Given the description of an element on the screen output the (x, y) to click on. 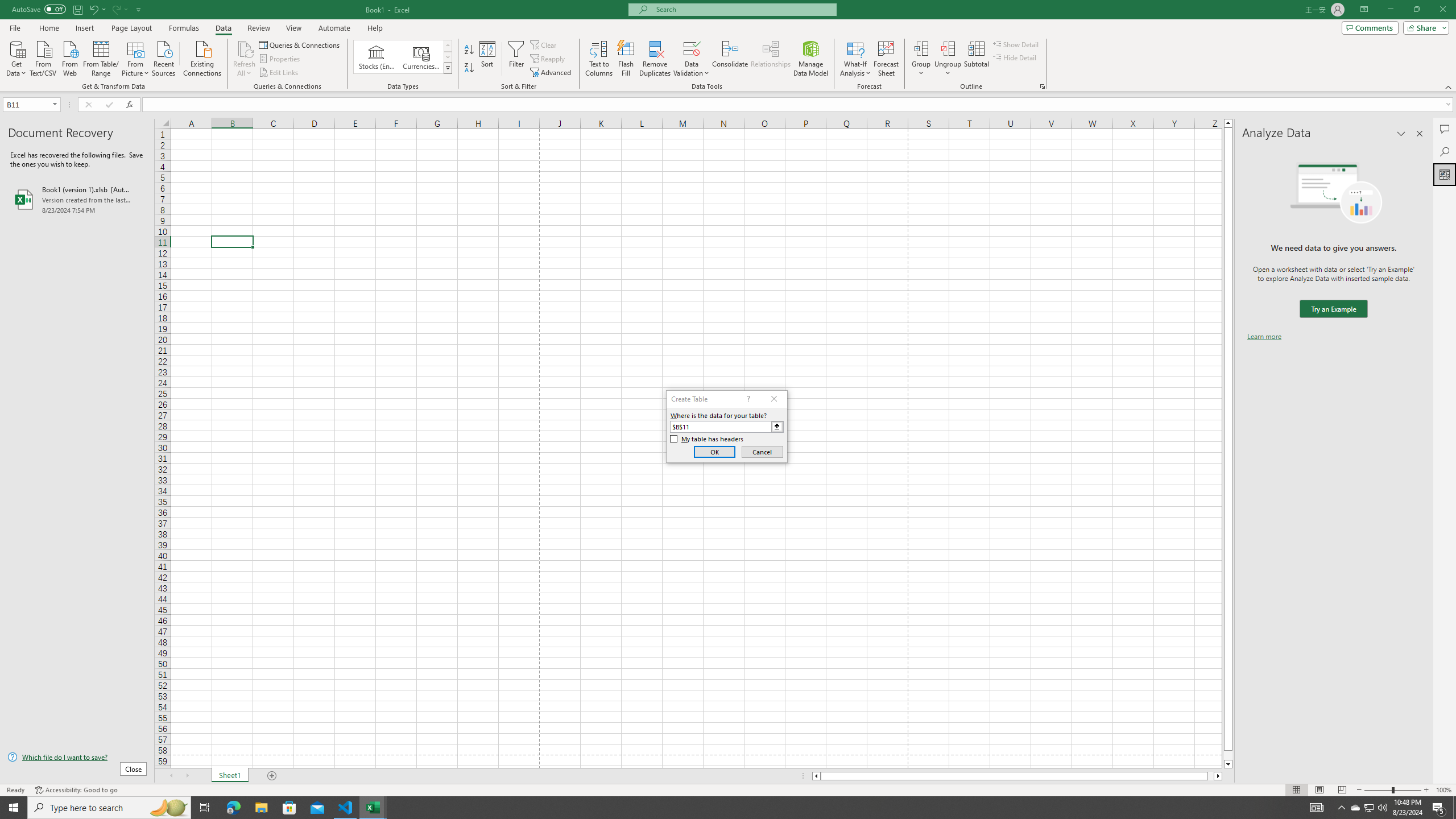
Clear (544, 44)
Existing Connections (202, 57)
Sort Z to A (469, 67)
Data Validation... (691, 48)
Row Down (448, 56)
Forecast Sheet (885, 58)
Queries & Connections (300, 44)
Class: NetUIImage (447, 68)
Text to Columns... (598, 58)
From Web (69, 57)
